Given the description of an element on the screen output the (x, y) to click on. 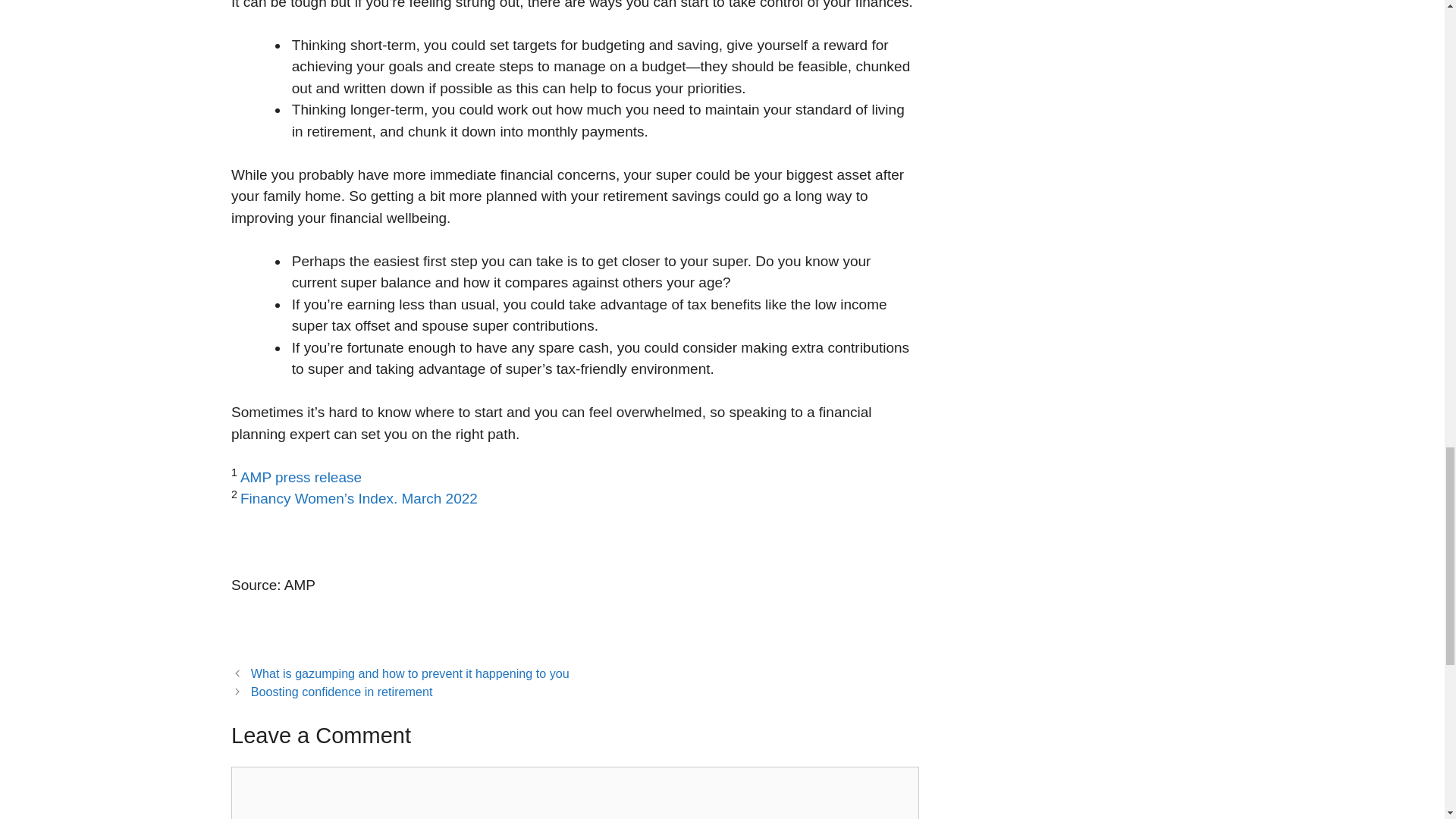
AMP press release (300, 477)
What is gazumping and how to prevent it happening to you (409, 673)
Boosting confidence in retirement (341, 691)
